Given the description of an element on the screen output the (x, y) to click on. 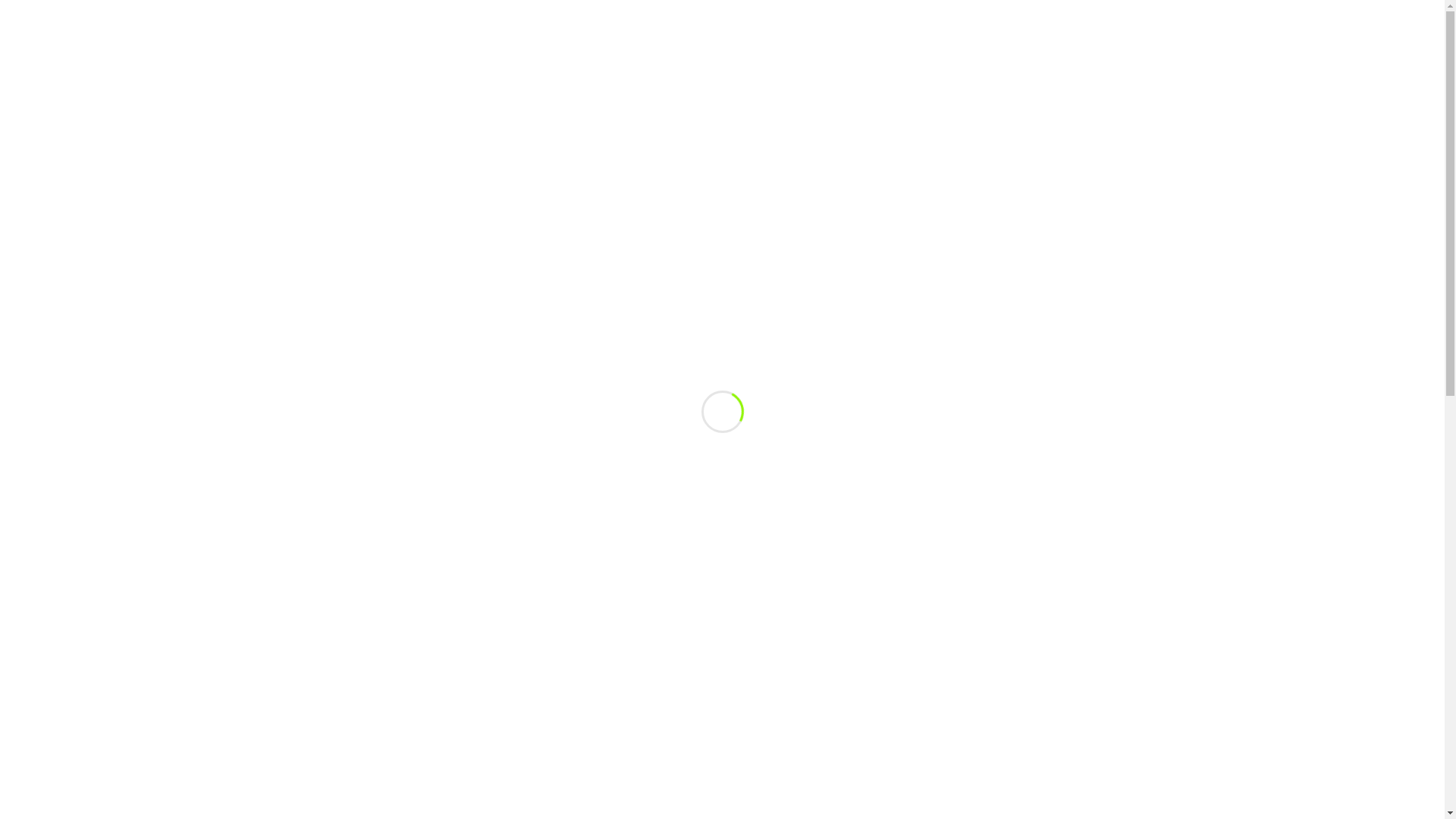
Corporate Awards Element type: text (365, 349)
Crystal Awards Element type: text (372, 502)
Find us on Map Element type: text (474, 15)
Clocks Element type: text (372, 449)
Name Bar Element type: text (365, 693)
Acrylic Awards Element type: text (372, 369)
Glass & Metal Awards Element type: text (372, 528)
Art Glass Element type: text (372, 396)
Perpetual Plaques & Shields Element type: text (365, 720)
Budget Glass Awards Element type: text (372, 422)
Wood Awards Element type: text (372, 581)
ABOUT US Element type: text (1119, 68)
trophies@exceltrophies.com.au Element type: text (604, 15)
Ball Displays Element type: text (365, 322)
Glass Awards Element type: text (372, 555)
Plaques & Shields Element type: text (365, 799)
ORDERS Element type: text (752, 68)
Perpetual Trophies Element type: text (365, 746)
FAQS Element type: text (1062, 68)
Home Element type: text (1098, 131)
Place Ribbons Element type: text (365, 773)
Cups Element type: text (365, 613)
HOME Element type: text (697, 68)
POPULAR ACTIVITIES Element type: text (978, 68)
Giftware Element type: text (365, 640)
Show 32 Products Element type: text (556, 248)
Login Element type: text (1131, 15)
$0.00 Element type: text (1081, 15)
Crystal & Metal Awards Element type: text (372, 475)
MANAGE MY ACCOUNT Element type: text (849, 68)
